Given the description of an element on the screen output the (x, y) to click on. 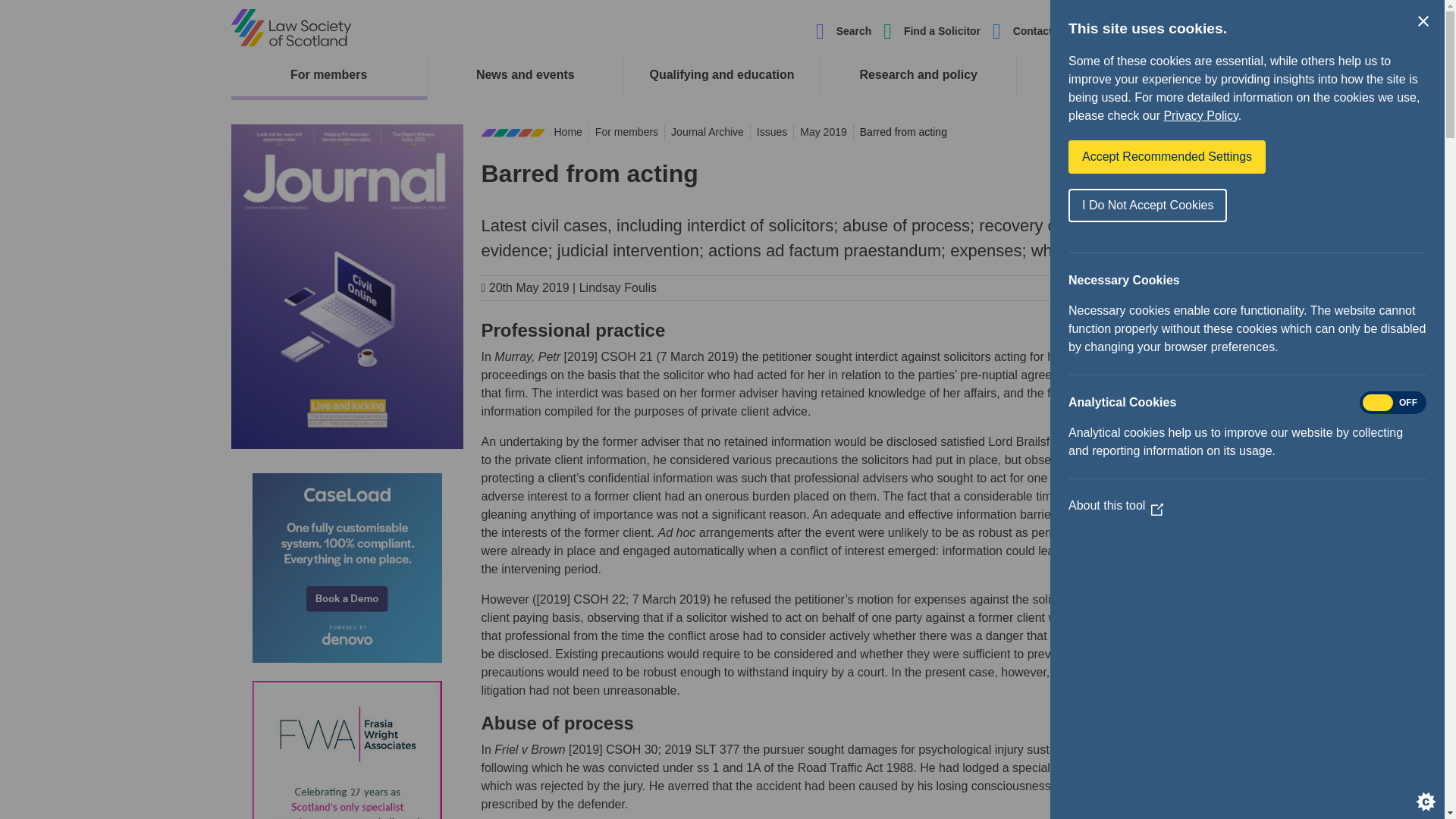
About us (1123, 31)
Book a demo today (346, 567)
News and events (525, 75)
Privacy Policy (1200, 115)
Find a Solicitor (941, 31)
Search (842, 31)
Sign in (1195, 31)
Qualifying and education (721, 75)
Accept Recommended Settings (1166, 156)
Contact us (1040, 31)
View current vacancies (346, 749)
Home (290, 27)
I Do Not Accept Cookies (1147, 205)
For members (328, 75)
